Given the description of an element on the screen output the (x, y) to click on. 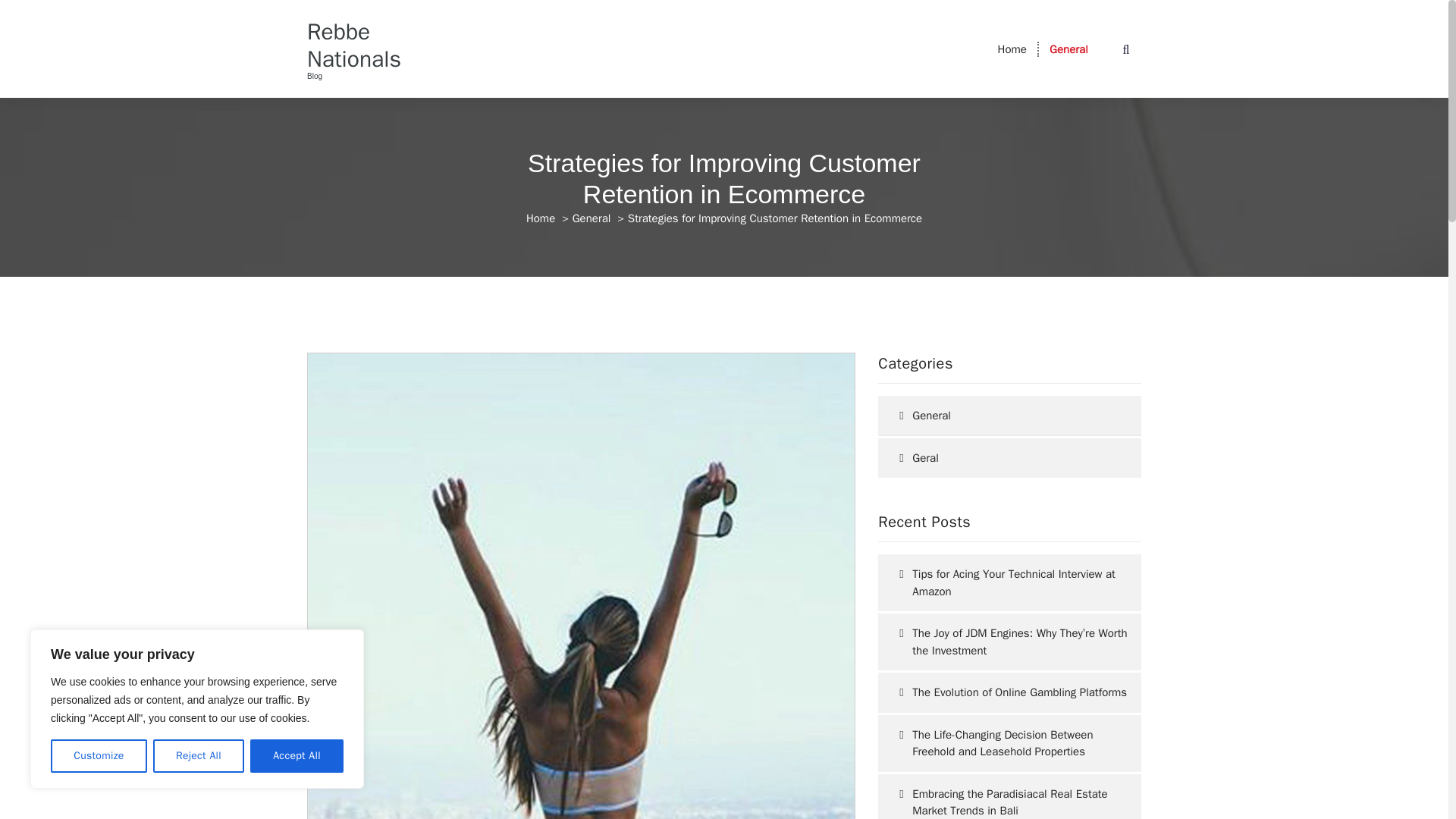
Reject All (198, 756)
Home (539, 218)
Accept All (296, 756)
Home (1012, 49)
Customize (98, 756)
Home (1012, 49)
Rebbe Nationals (366, 45)
General (591, 218)
General (1068, 49)
General (1068, 49)
